Given the description of an element on the screen output the (x, y) to click on. 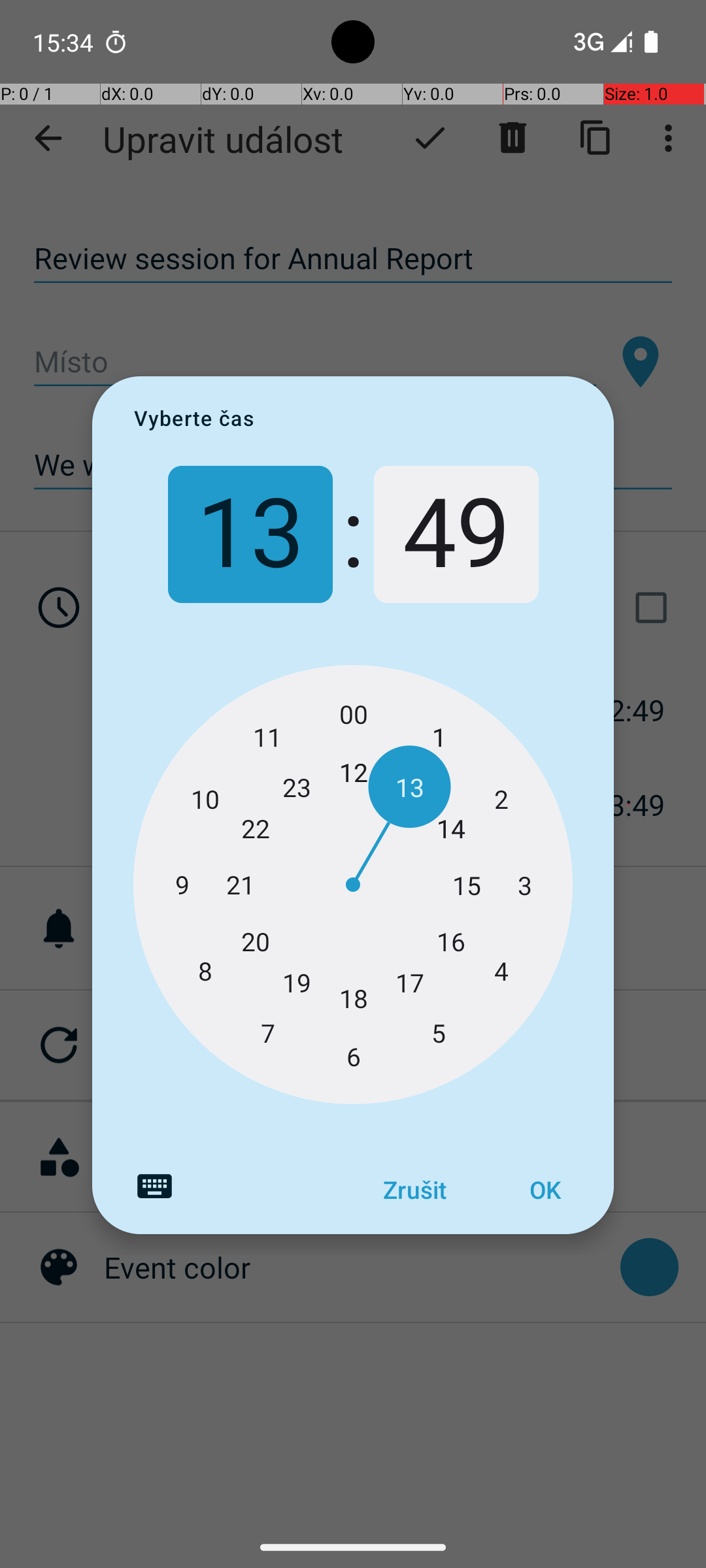
49 Element type: android.view.View (455, 534)
Chcete-li zadat čas, přepněte na režim textu. Element type: android.widget.Button (154, 1186)
